Given the description of an element on the screen output the (x, y) to click on. 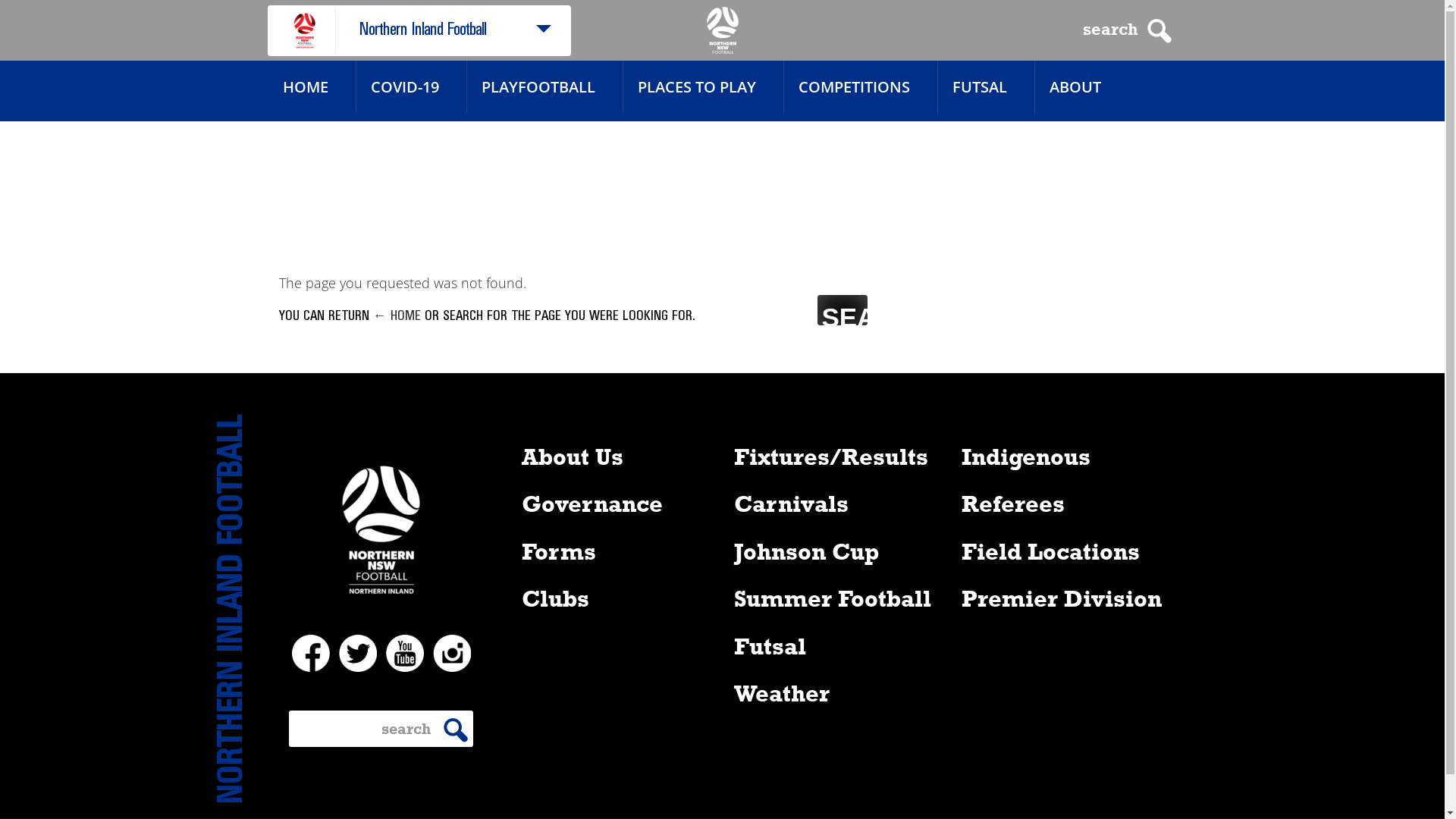
Carnivals Element type: text (791, 503)
FUTSAL Element type: text (979, 86)
PLACES TO PLAY Element type: text (695, 86)
Indigenous Element type: text (1025, 455)
Field Locations Element type: text (1050, 550)
Instagram Element type: text (451, 652)
About Us Element type: text (572, 455)
HOME Element type: text (304, 86)
Twitter Element type: text (357, 652)
Search Element type: text (841, 309)
NNSWF Element type: text (722, 29)
Youtube Element type: text (404, 652)
COVID-19 Element type: text (403, 86)
Clubs Element type: text (555, 597)
Weather Element type: text (781, 692)
PLAYFOOTBALL Element type: text (537, 86)
Fixtures/Results Element type: text (831, 455)
S Element type: text (454, 730)
Premier Division Element type: text (1061, 597)
Forms Element type: text (558, 550)
Summer Football Element type: text (832, 597)
S Element type: text (1158, 30)
Futsal Element type: text (770, 644)
Referees Element type: text (1012, 503)
Facebook Element type: text (310, 652)
Johnson Cup Element type: text (806, 550)
COMPETITIONS Element type: text (853, 86)
ABOUT Element type: text (1075, 86)
Governance Element type: text (591, 503)
